Given the description of an element on the screen output the (x, y) to click on. 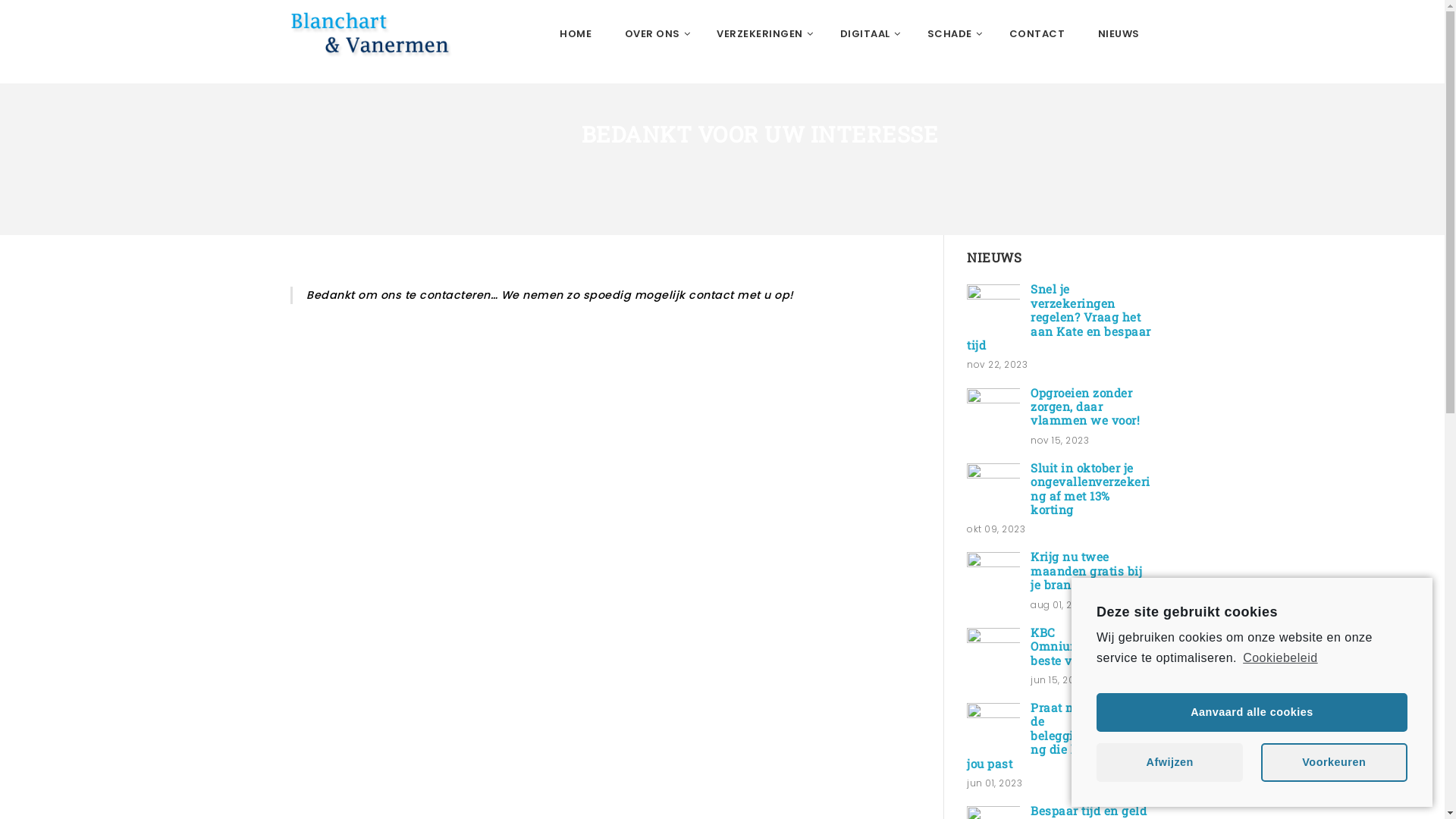
NIEUWS Element type: text (1118, 34)
Afwijzen Element type: text (1169, 762)
KBC Omniumverzekering beste van de test Element type: hover (992, 653)
CONTACT Element type: text (1036, 34)
Voorkeuren Element type: text (1334, 762)
Sluit in oktober je ongevallenverzekering af met 13% korting Element type: text (1090, 488)
Aanvaard alle cookies Element type: text (1251, 712)
SCHADE Element type: text (951, 34)
B&V Element type: text (384, 34)
VERZEKERINGEN Element type: text (761, 34)
Sluit in oktober je ongevallenverzekering af met 13% korting Element type: hover (992, 489)
Opgroeien zonder zorgen, daar vlammen we voor! Element type: text (1084, 406)
Krijg nu twee maanden gratis bij je brandverzekering Element type: text (1089, 570)
KBC Omniumverzekering beste van de test Element type: text (1090, 646)
Opgroeien zonder zorgen, daar vlammen we voor! Element type: hover (992, 414)
HOME Element type: text (575, 34)
Krijg nu twee maanden gratis bij je brandverzekering Element type: hover (992, 578)
DIGITAAL Element type: text (867, 34)
OVER ONS Element type: text (654, 34)
Cookiebeleid Element type: text (1278, 657)
